Given the description of an element on the screen output the (x, y) to click on. 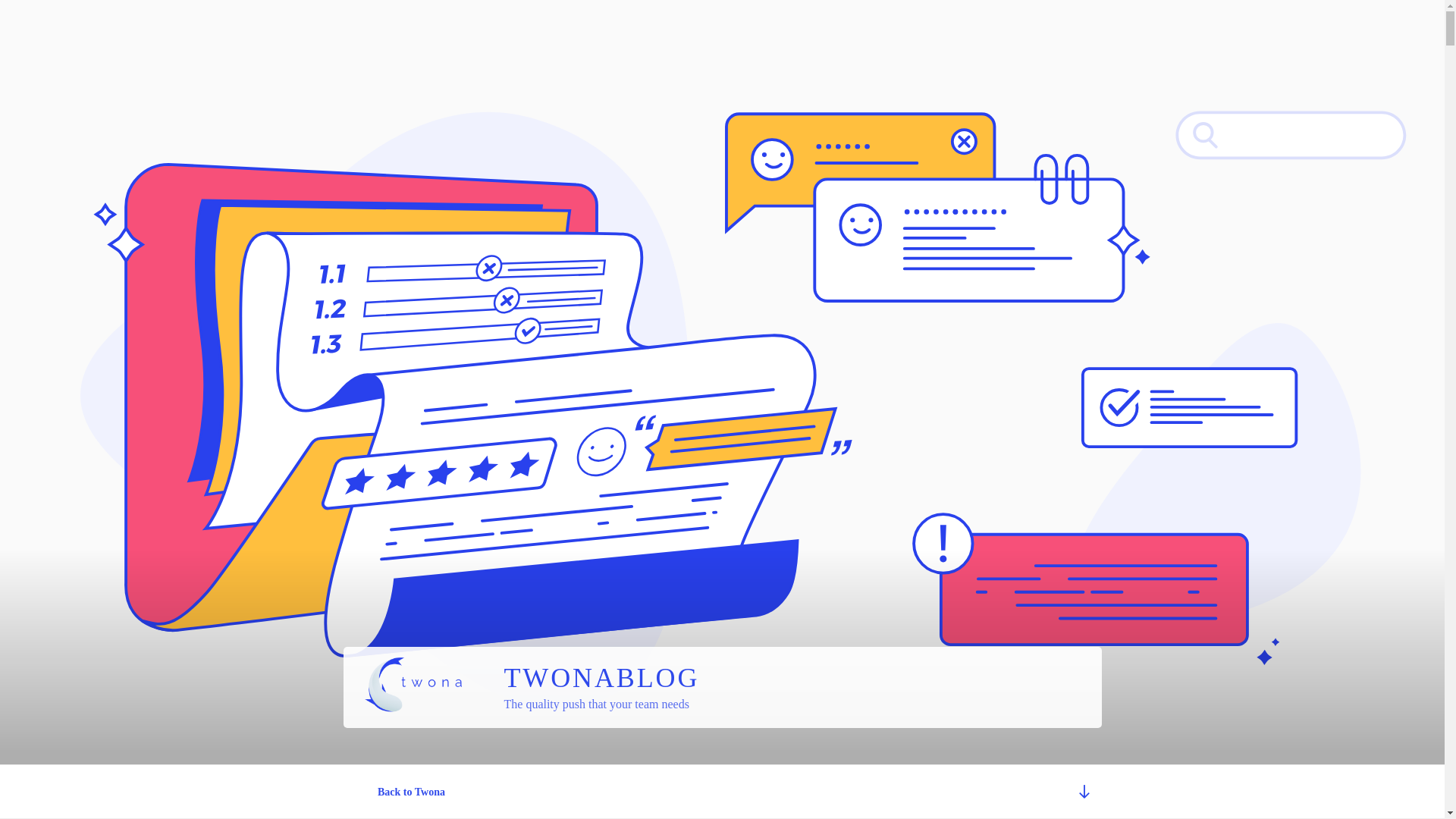
TWONABLOG (600, 677)
Scroll down to content (1082, 791)
Back to Twona (411, 791)
Scroll down to content (1082, 791)
